Given the description of an element on the screen output the (x, y) to click on. 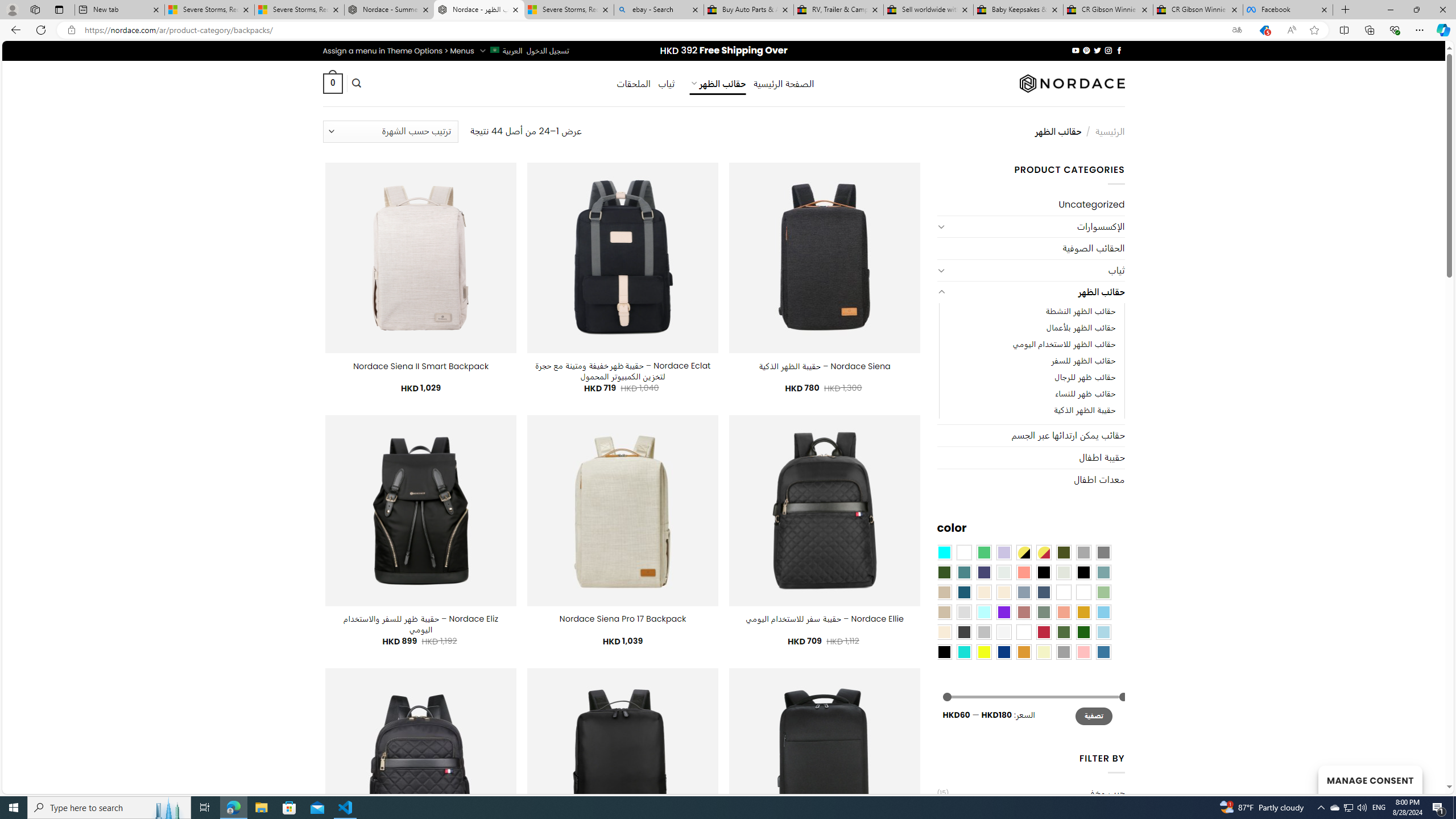
Uncategorized (1030, 204)
